Given the description of an element on the screen output the (x, y) to click on. 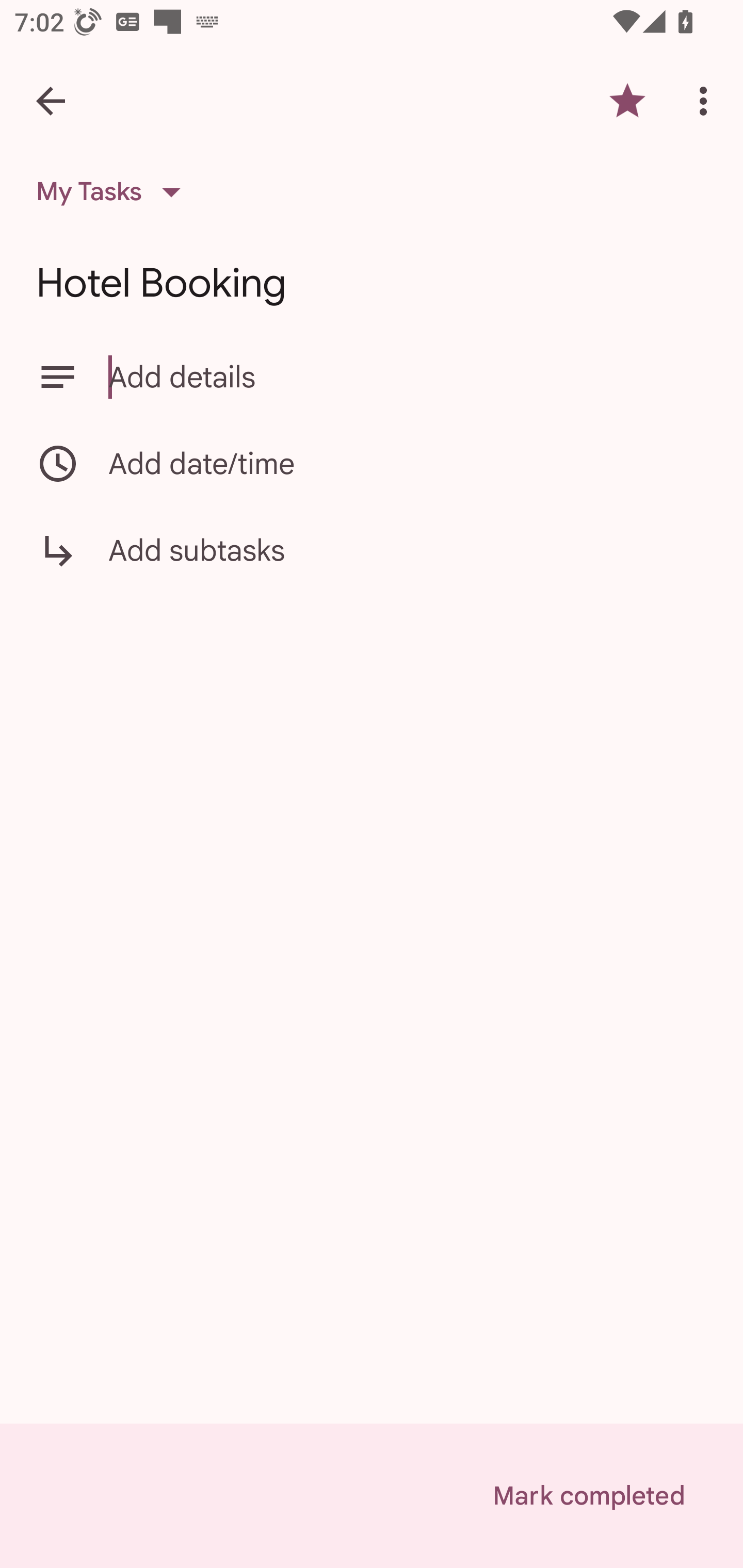
Back (50, 101)
Remove star (626, 101)
More options (706, 101)
My Tasks List, My Tasks selected, 1 of 6 (114, 191)
Hotel Booking (371, 283)
Add details (371, 376)
Add details (407, 376)
Add date/time (371, 463)
Add subtasks (371, 564)
Mark completed (588, 1495)
